Given the description of an element on the screen output the (x, y) to click on. 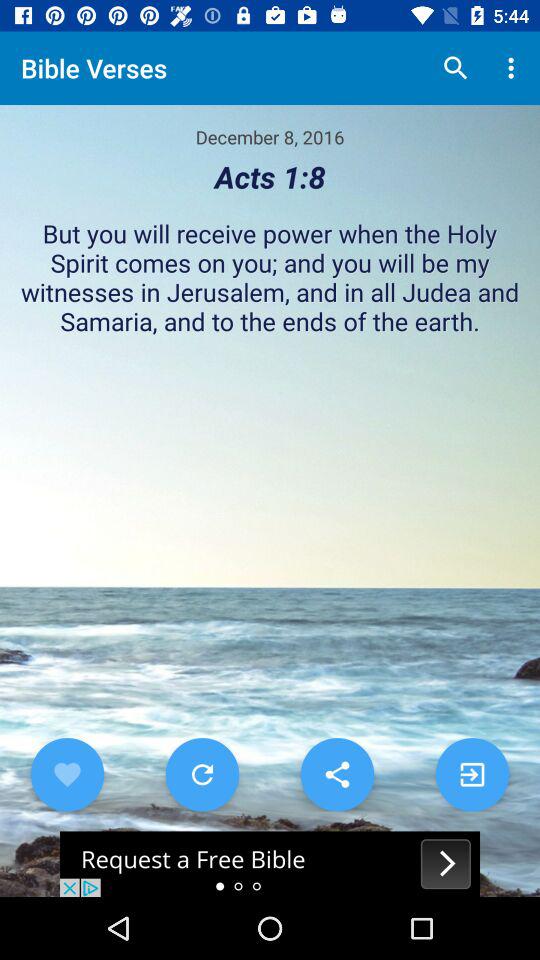
like page (67, 774)
